Given the description of an element on the screen output the (x, y) to click on. 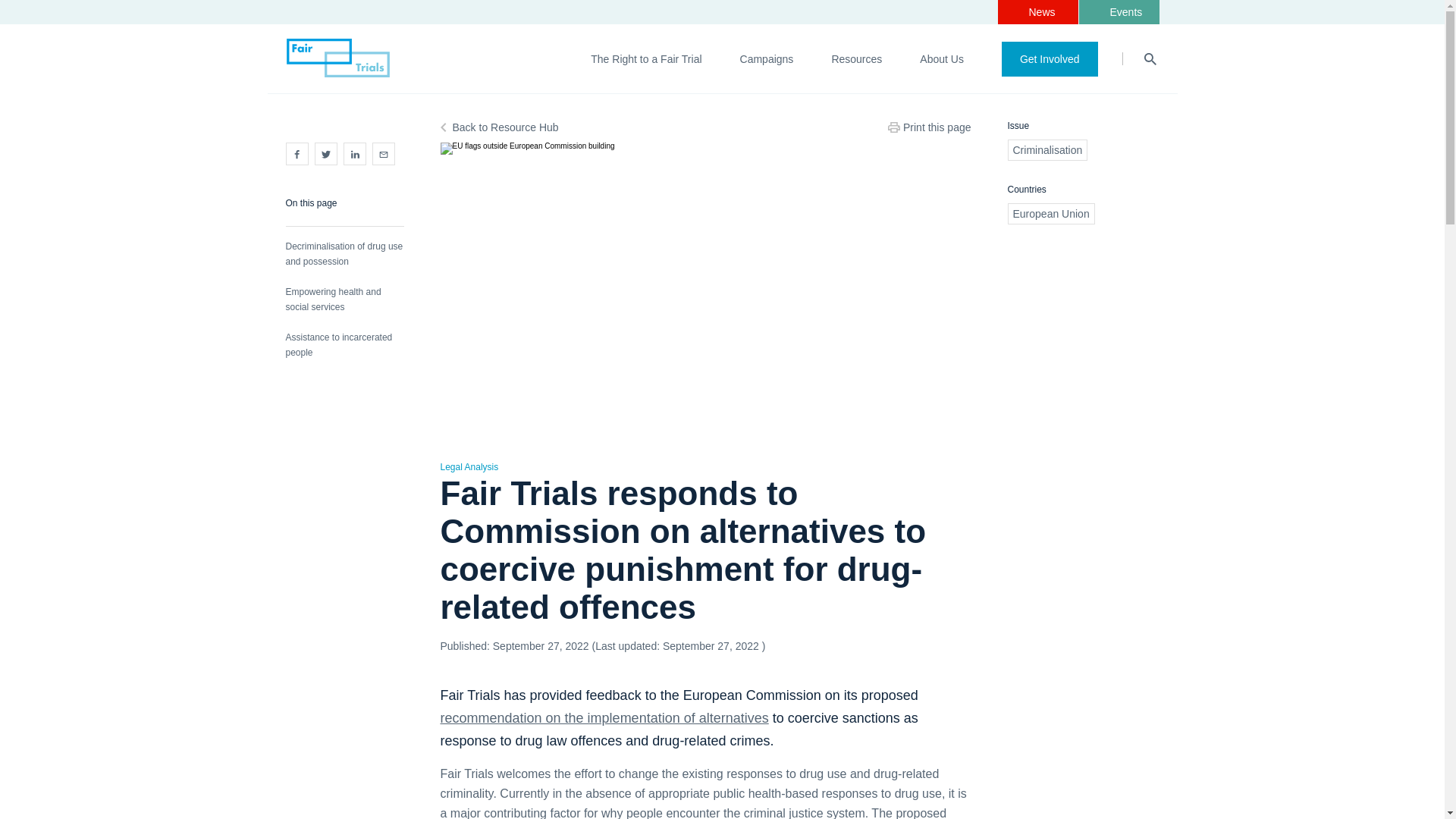
Resources (856, 58)
Campaigns (766, 58)
The Right to a Fair Trial (646, 58)
About Us (941, 58)
Events (1118, 12)
Empowering health and social services (344, 307)
Decriminalisation of drug use and possession (344, 261)
Assistance to incarcerated people (344, 352)
Get Involved (1049, 58)
News (1037, 12)
